Given the description of an element on the screen output the (x, y) to click on. 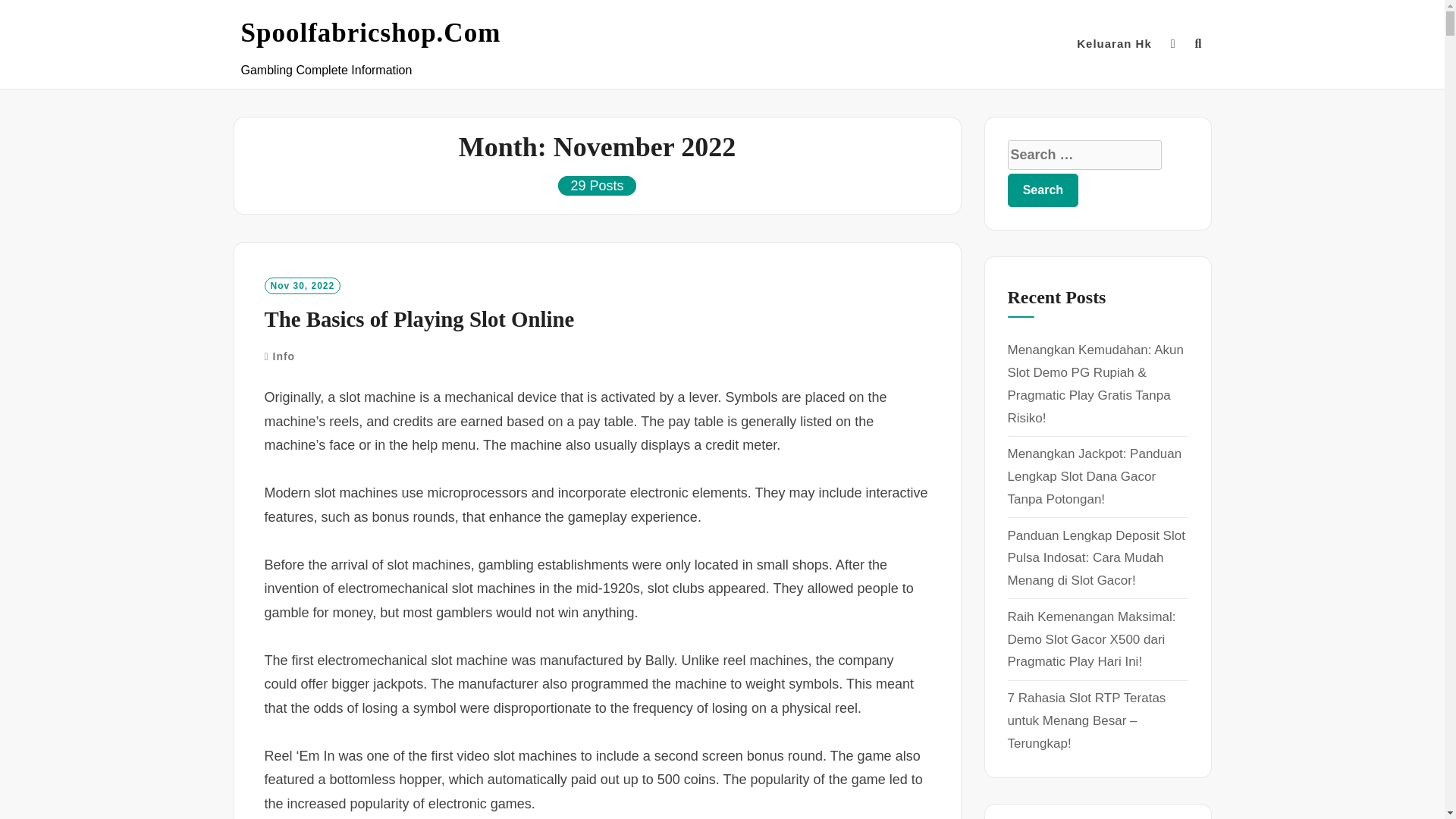
The Basics of Playing Slot Online (418, 319)
Search (1042, 190)
Info (284, 356)
Keluaran Hk (1114, 44)
Spoolfabricshop.Com (370, 33)
Nov 30, 2022 (301, 285)
Search (1042, 190)
